Given the description of an element on the screen output the (x, y) to click on. 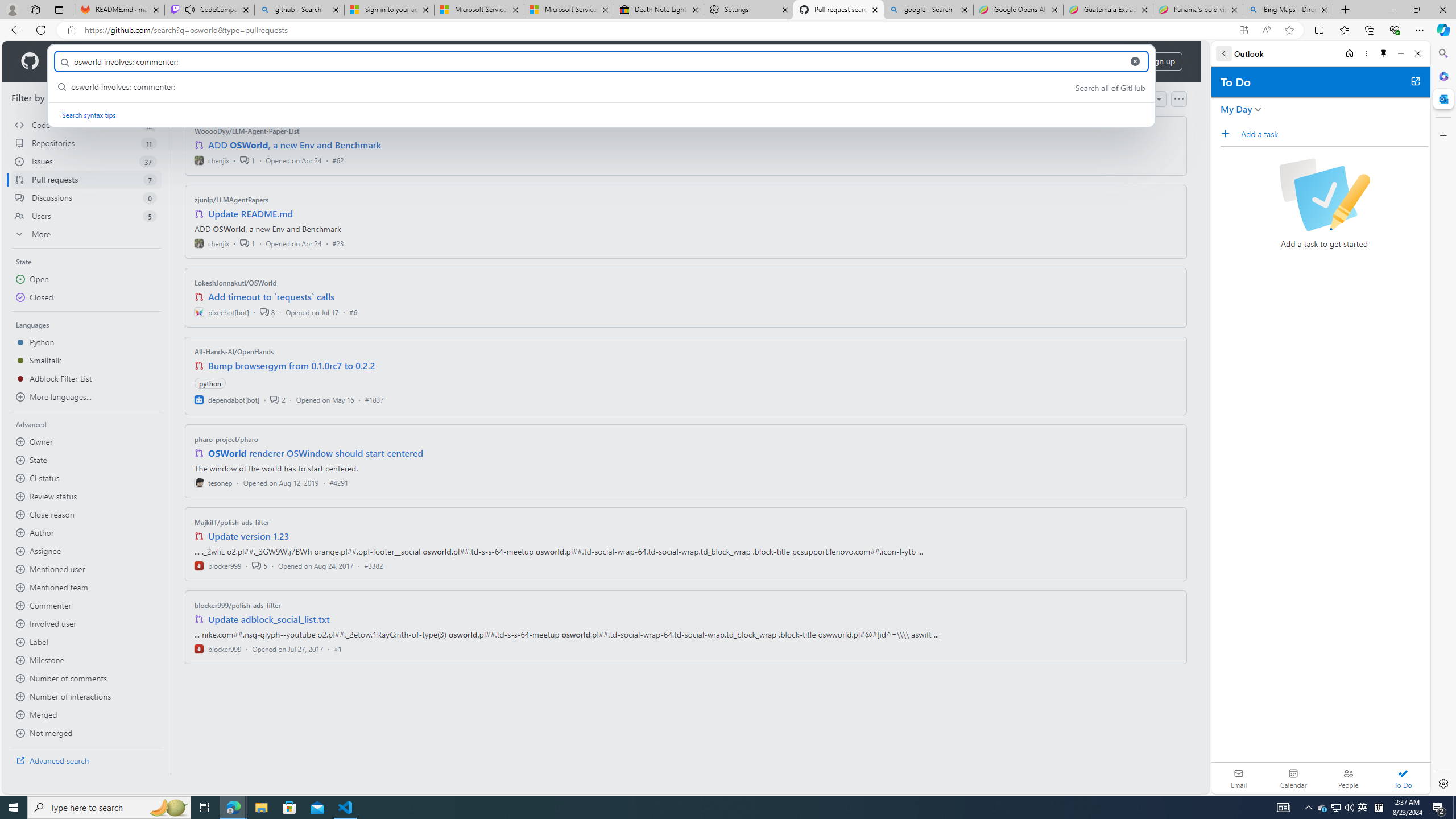
Solutions (128, 60)
blocker999/polish-ads-filter (238, 605)
All-Hands-AI/OpenHands (234, 351)
